Given the description of an element on the screen output the (x, y) to click on. 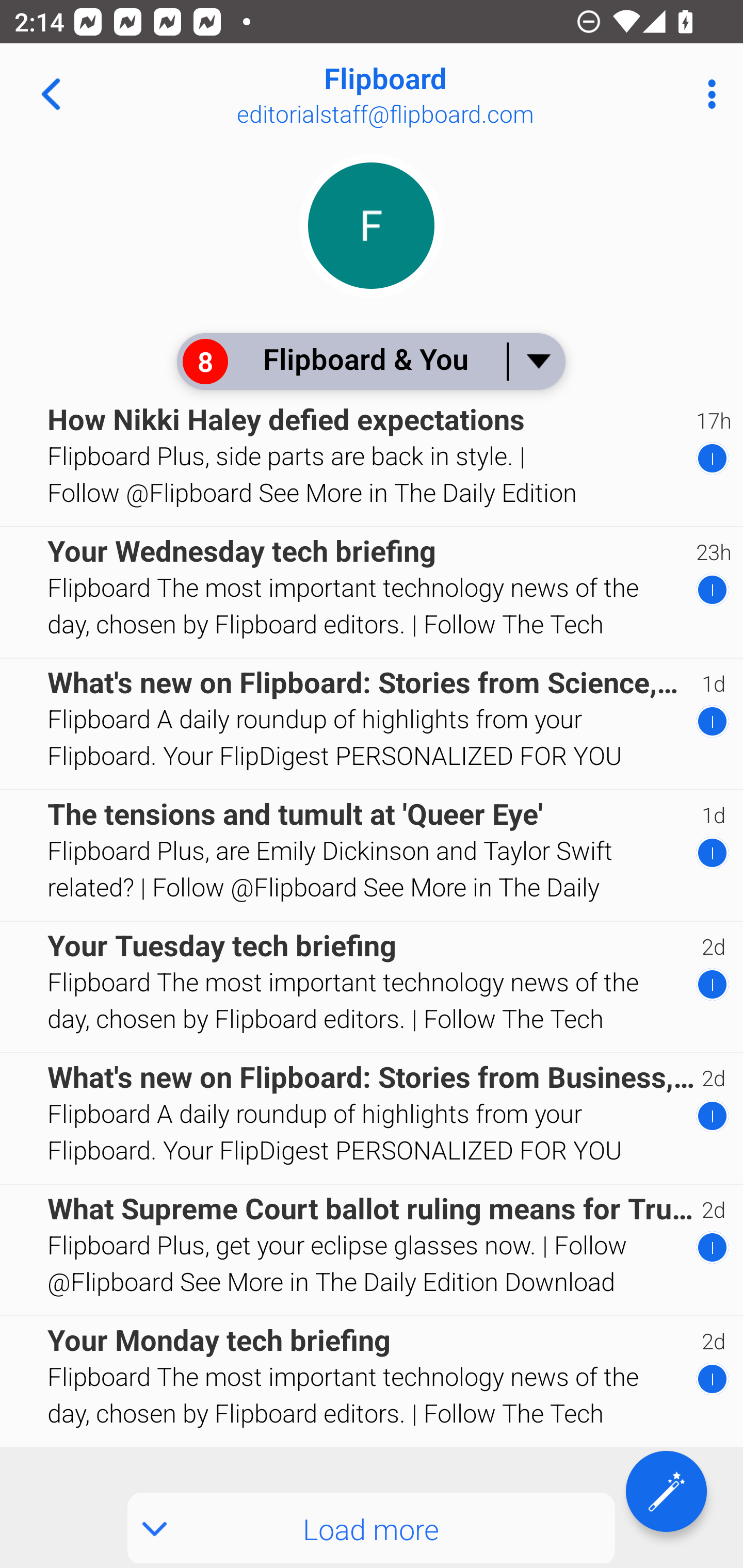
Navigate up (50, 93)
Flipboard editorialstaff@flipboard.com (436, 93)
More Options (706, 93)
8 Flipboard & You (370, 361)
Load more (371, 1527)
